Given the description of an element on the screen output the (x, y) to click on. 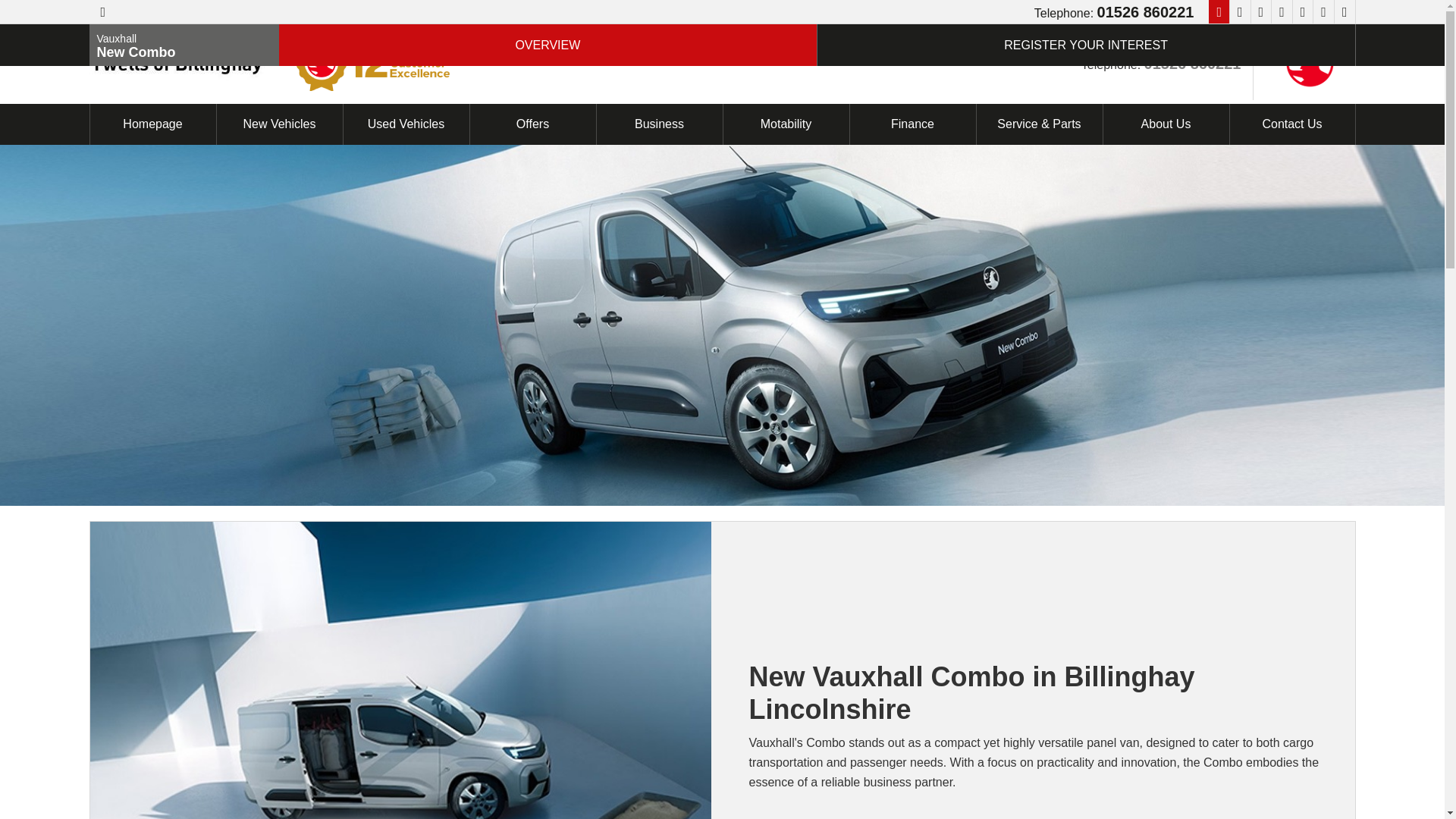
Used Vehicles (405, 124)
01526 860221 (1145, 12)
Homepage (151, 124)
01526 860221 (1192, 62)
